Given the description of an element on the screen output the (x, y) to click on. 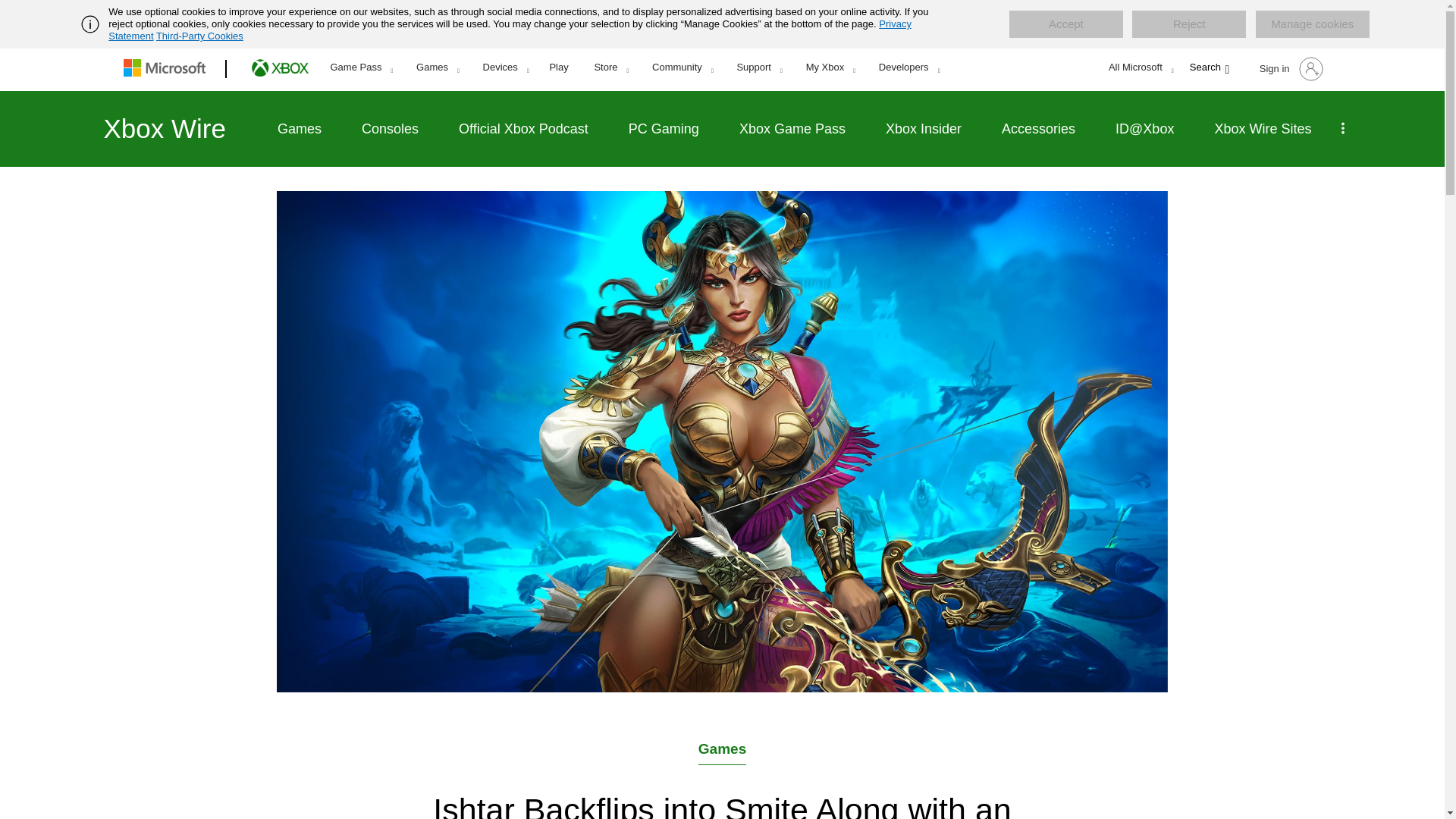
Devices (505, 67)
Accept (1065, 23)
Games (437, 67)
Game Pass (360, 67)
Third-Party Cookies (199, 35)
Privacy Statement (509, 29)
Manage cookies (1312, 23)
Microsoft (167, 69)
Reject (1189, 23)
